Given the description of an element on the screen output the (x, y) to click on. 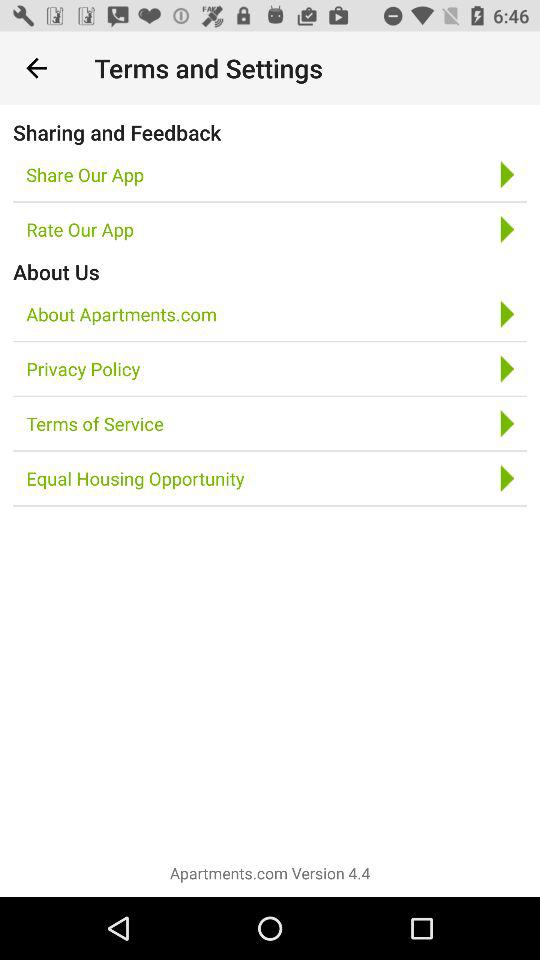
select the icon above terms of service icon (83, 368)
